Given the description of an element on the screen output the (x, y) to click on. 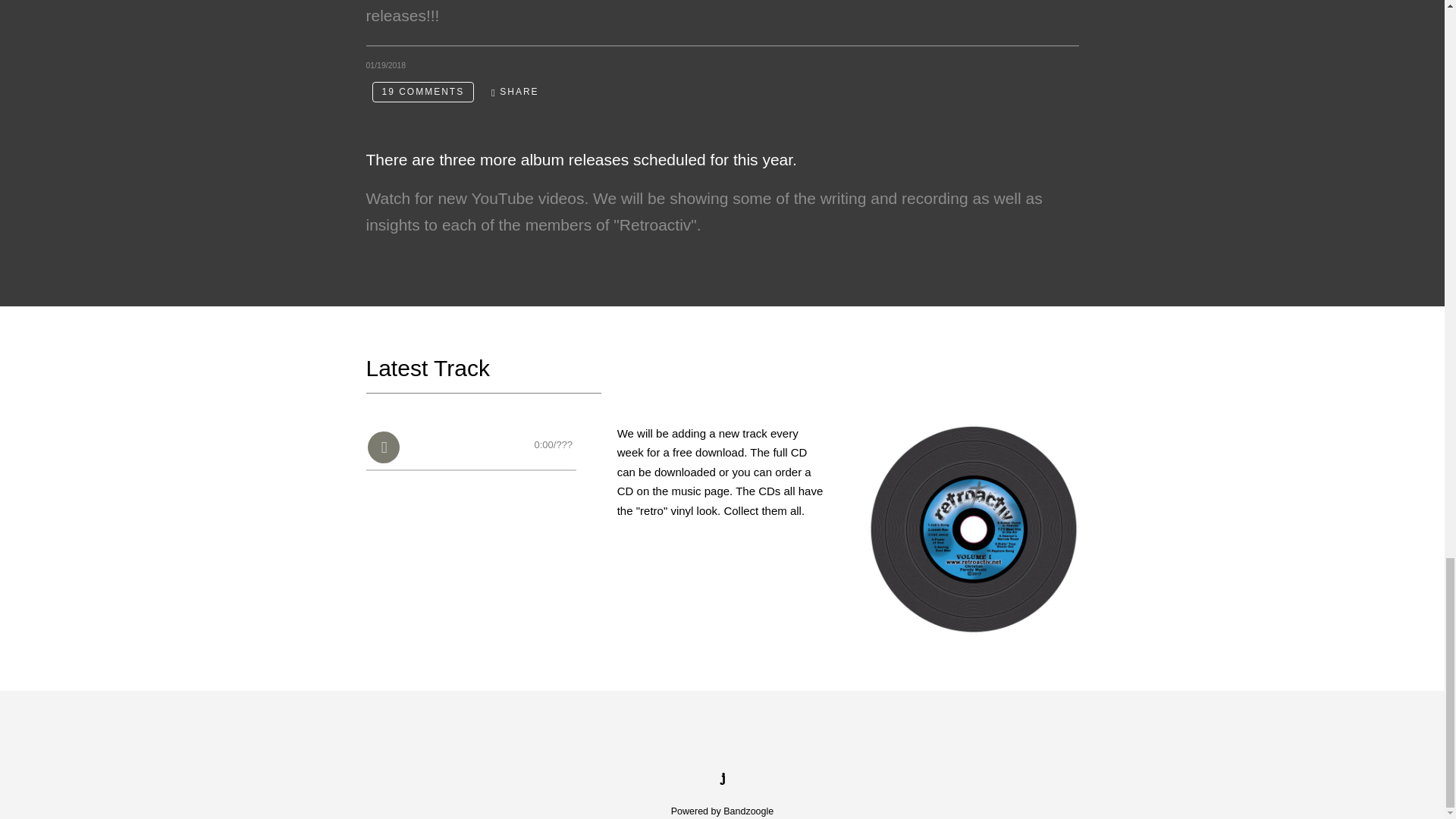
SHARE (514, 91)
Powered by Bandzoogle (722, 810)
19 comments (422, 91)
January 19, 2018 09:32 (385, 64)
Powered by Bandzoogle (722, 810)
Share  Christian parody song ideas (514, 91)
19 COMMENTS (422, 91)
